Given the description of an element on the screen output the (x, y) to click on. 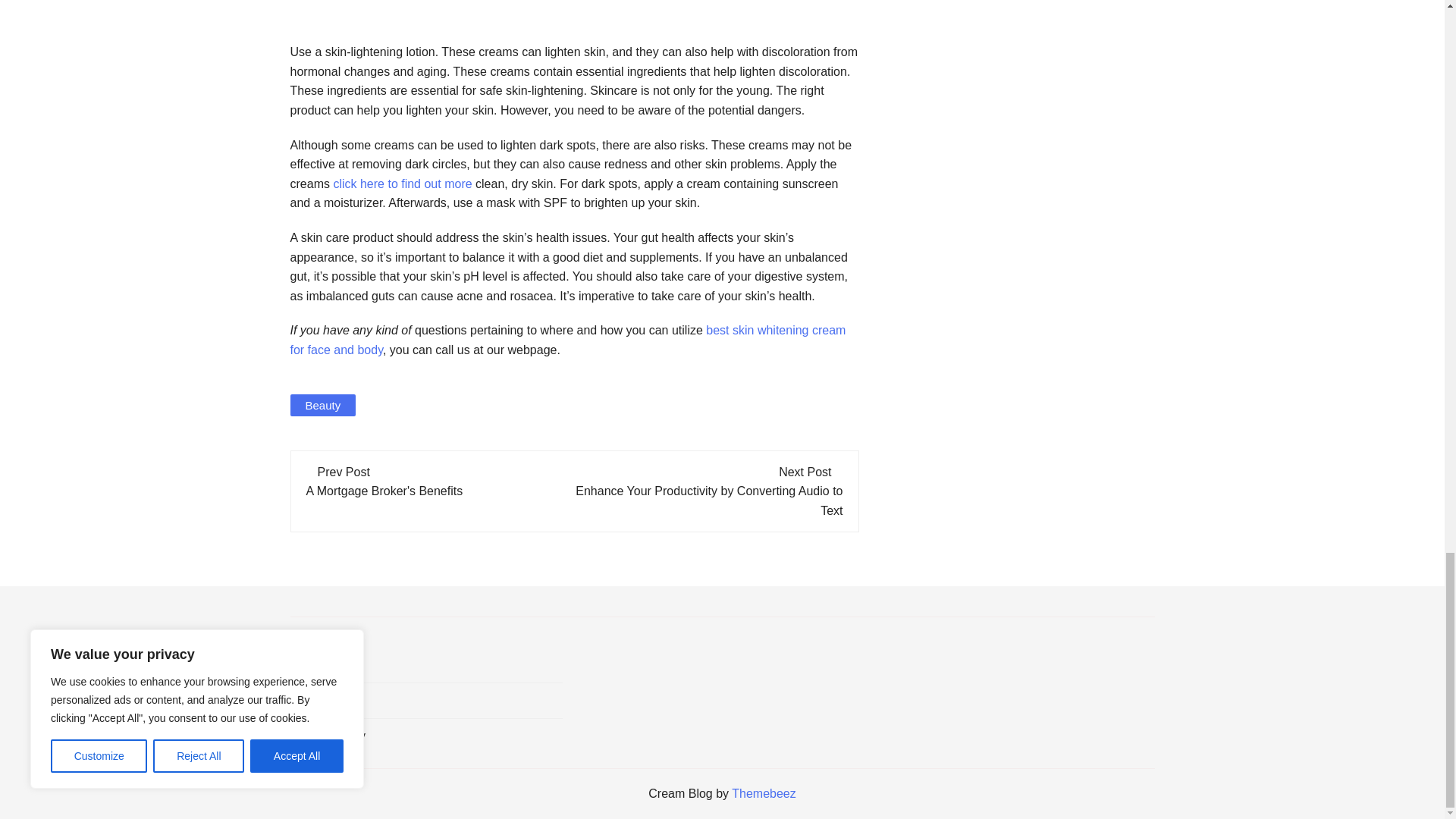
A Mortgage Broker's Benefits (384, 490)
best skin whitening cream for face and body (567, 339)
Beauty (322, 404)
click here to find out more (402, 183)
Enhance Your Productivity by Converting Audio to Text (709, 500)
